Given the description of an element on the screen output the (x, y) to click on. 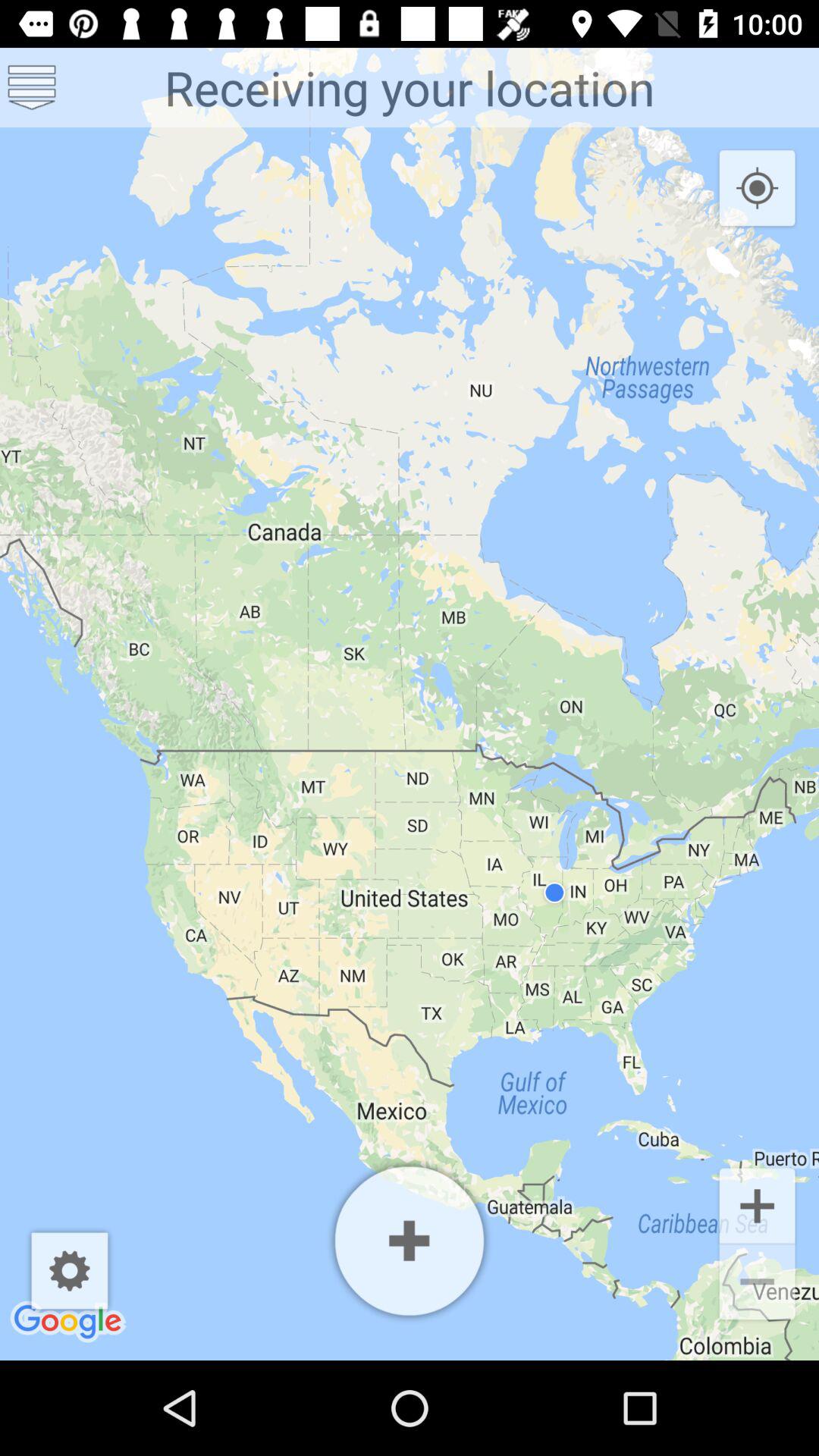
select icon at the top right corner (757, 188)
